Given the description of an element on the screen output the (x, y) to click on. 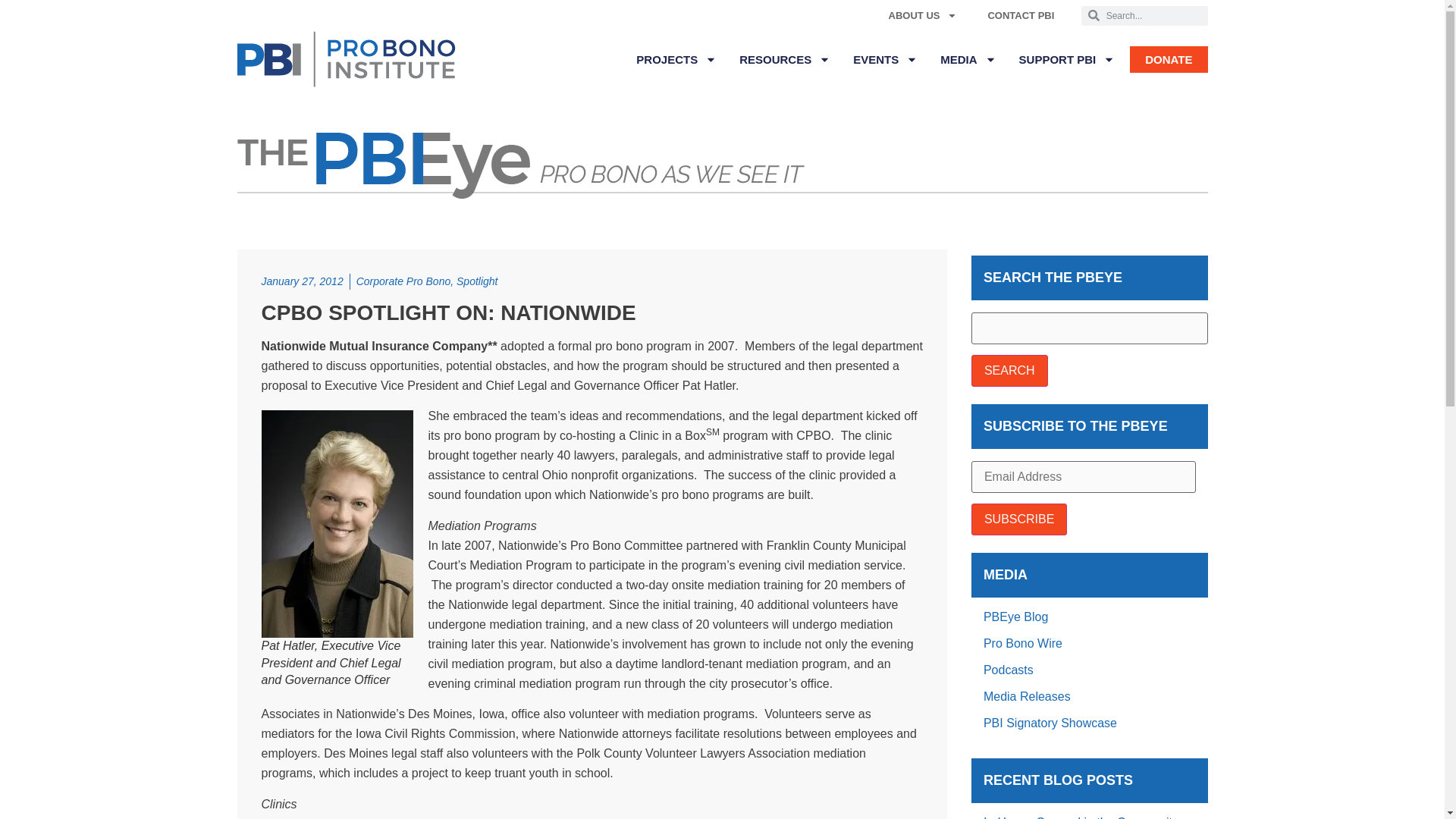
PROJECTS (676, 58)
ABOUT US (922, 15)
RESOURCES (784, 58)
CONTACT PBI (1020, 15)
SEARCH (1009, 370)
EVENTS (885, 58)
